Given the description of an element on the screen output the (x, y) to click on. 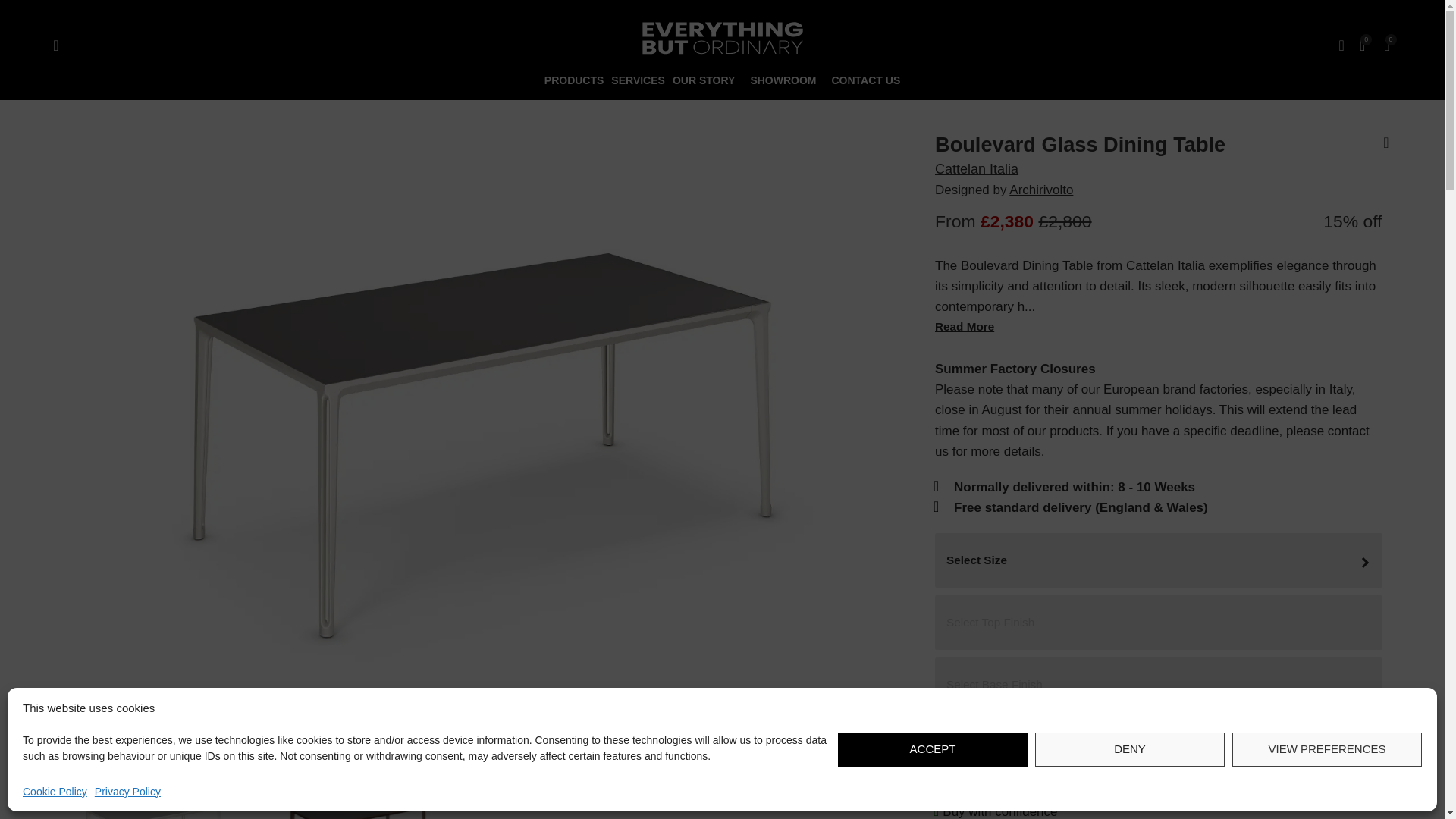
DENY (1129, 749)
VIEW PREFERENCES (1326, 749)
ACCEPT (932, 749)
Cookie Policy (55, 791)
Privacy Policy (127, 791)
